Given the description of an element on the screen output the (x, y) to click on. 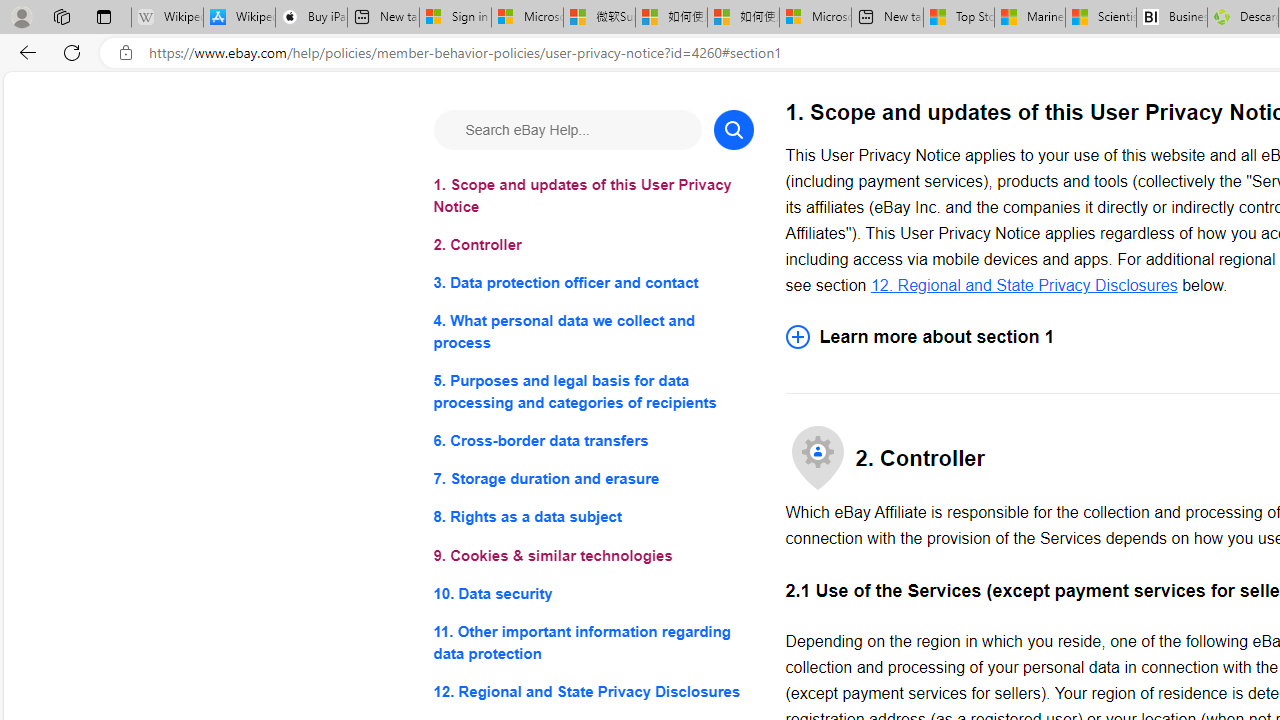
Microsoft account | Account Checkup (815, 17)
8. Rights as a data subject (592, 517)
12. Regional and State Privacy Disclosures (1023, 284)
3. Data protection officer and contact (592, 283)
8. Rights as a data subject (592, 517)
9. Cookies & similar technologies (592, 555)
10. Data security (592, 592)
3. Data protection officer and contact (592, 283)
7. Storage duration and erasure (592, 479)
7. Storage duration and erasure (592, 479)
